Given the description of an element on the screen output the (x, y) to click on. 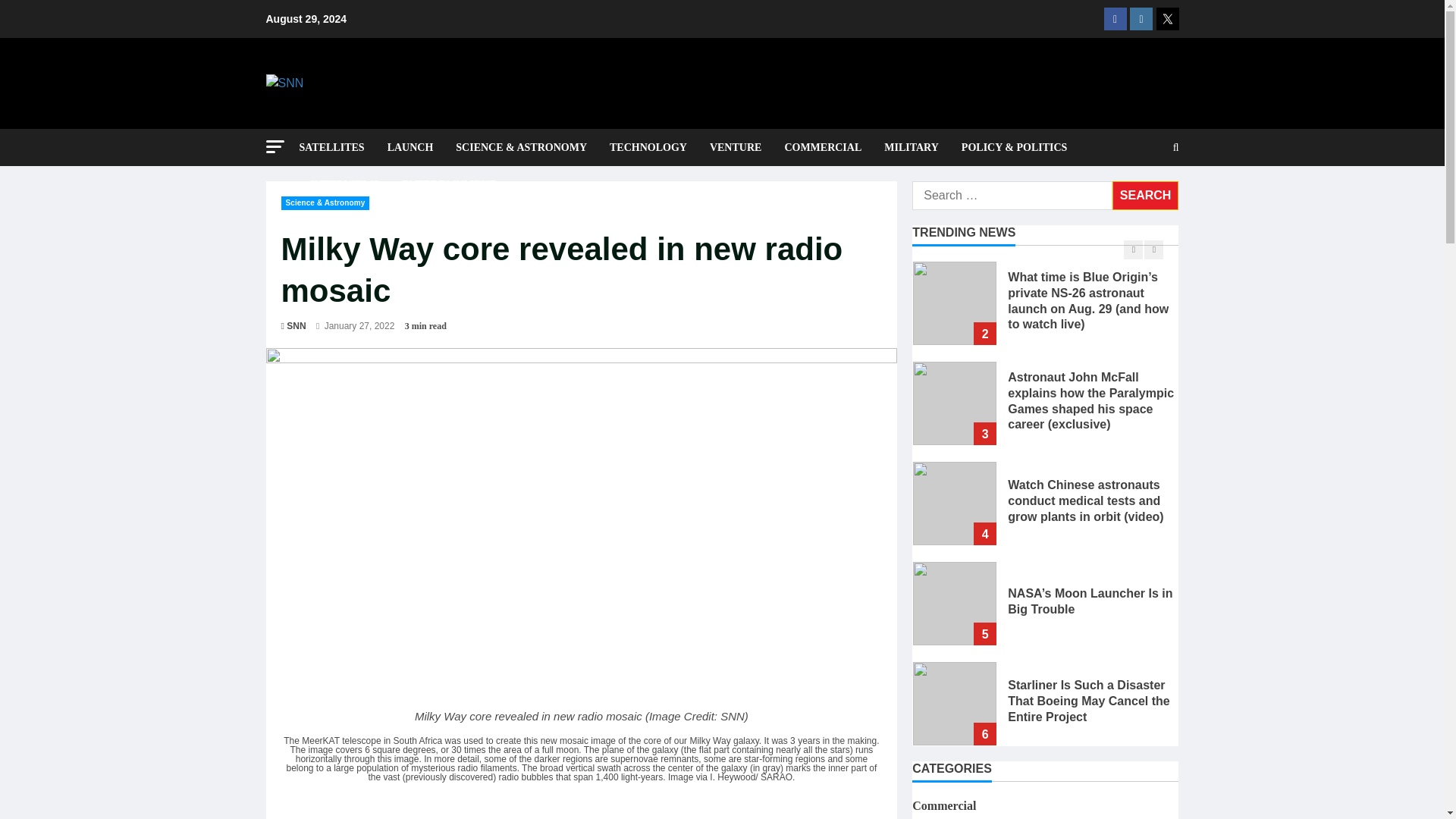
Instagram (1141, 18)
VENTURE (735, 147)
Facebook (1114, 18)
LAUNCH (410, 147)
Twitter (1166, 18)
Search (1145, 194)
SATELLITES (336, 147)
INTERVIEWS (344, 184)
MILITARY (911, 147)
Search (1145, 194)
